Given the description of an element on the screen output the (x, y) to click on. 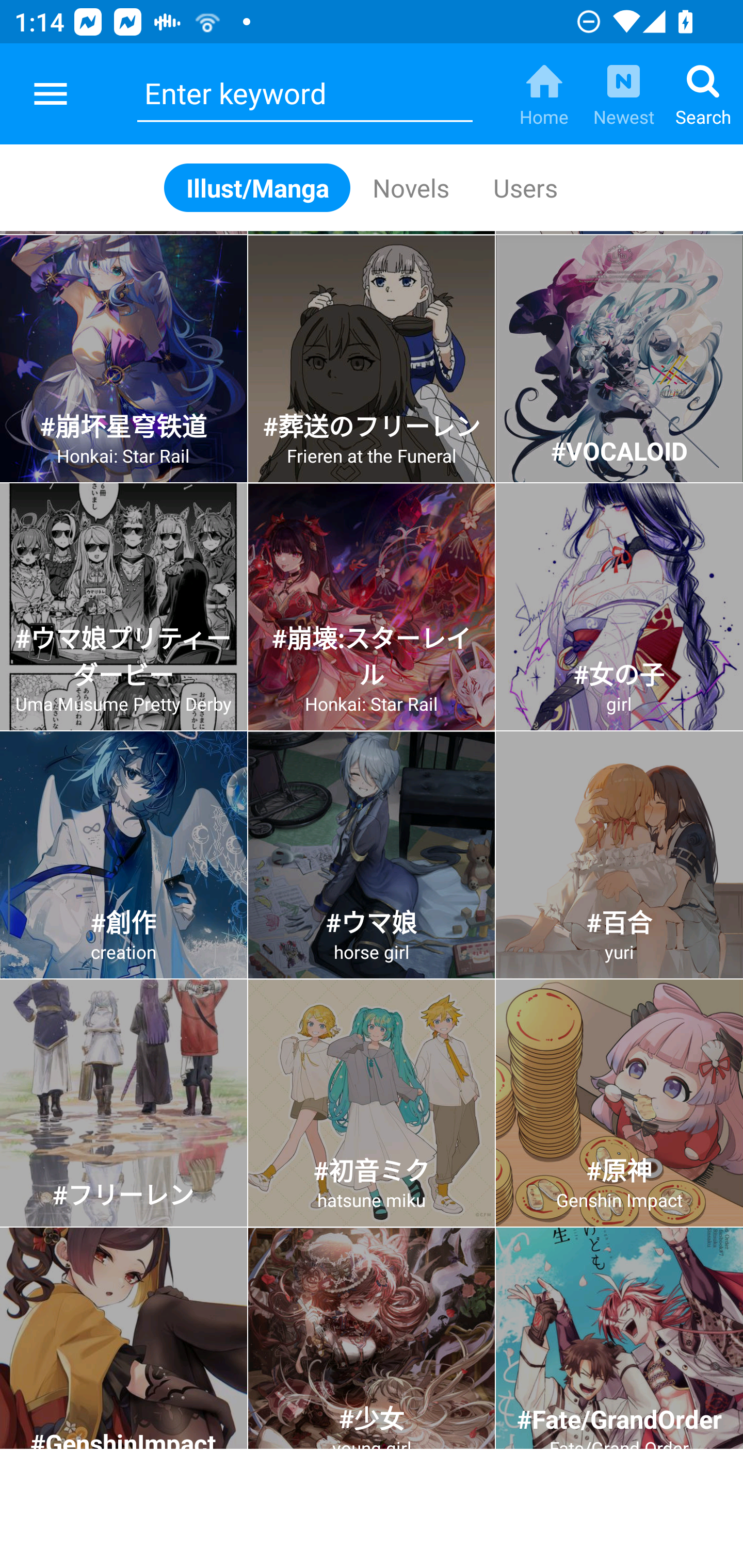
pixiv (50, 93)
Home (543, 93)
Newest (623, 93)
Enter keyword (304, 93)
Illust/Manga (257, 187)
Novels (410, 187)
Users (524, 187)
